Given the description of an element on the screen output the (x, y) to click on. 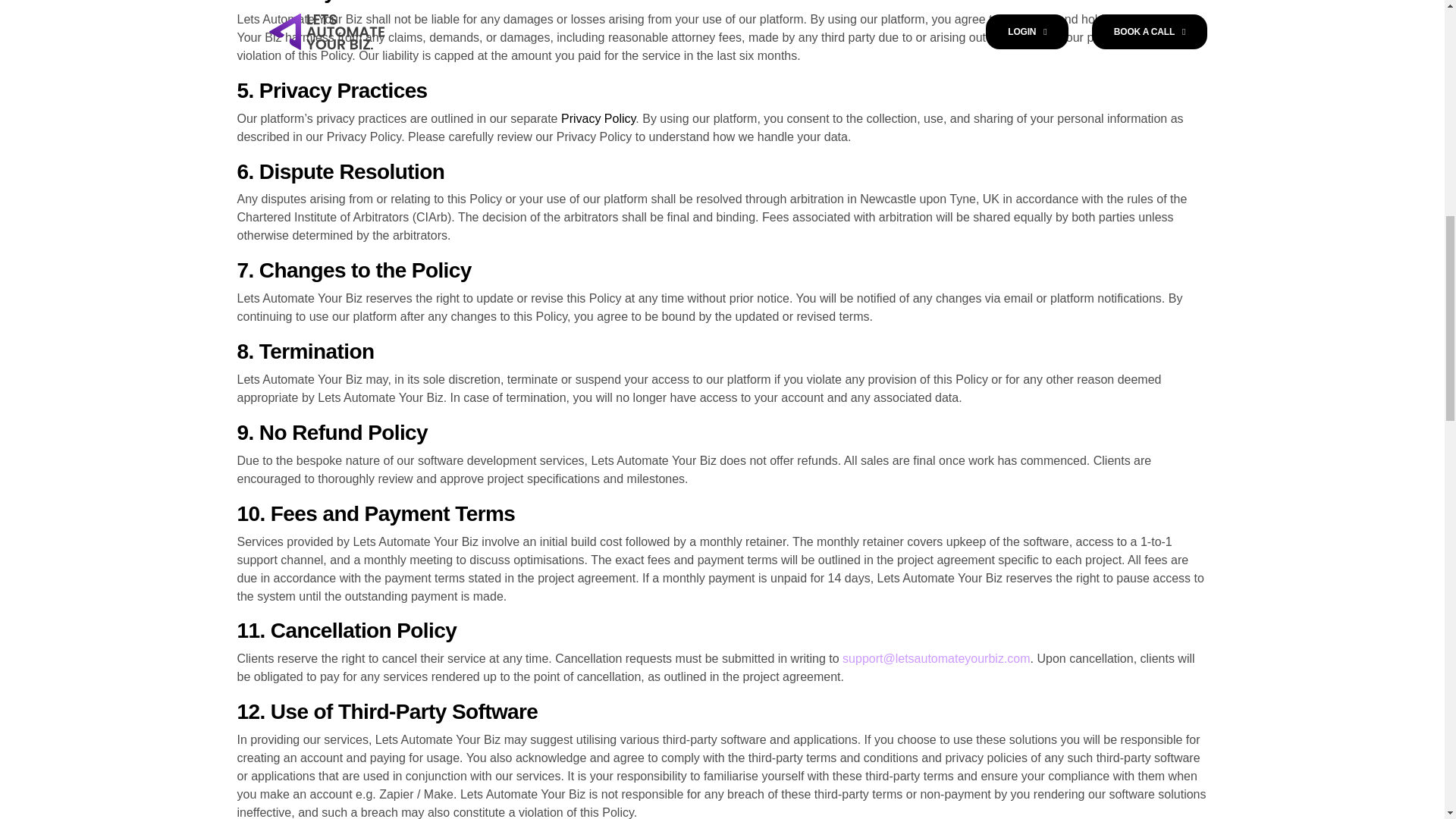
Privacy Policy (597, 118)
